Given the description of an element on the screen output the (x, y) to click on. 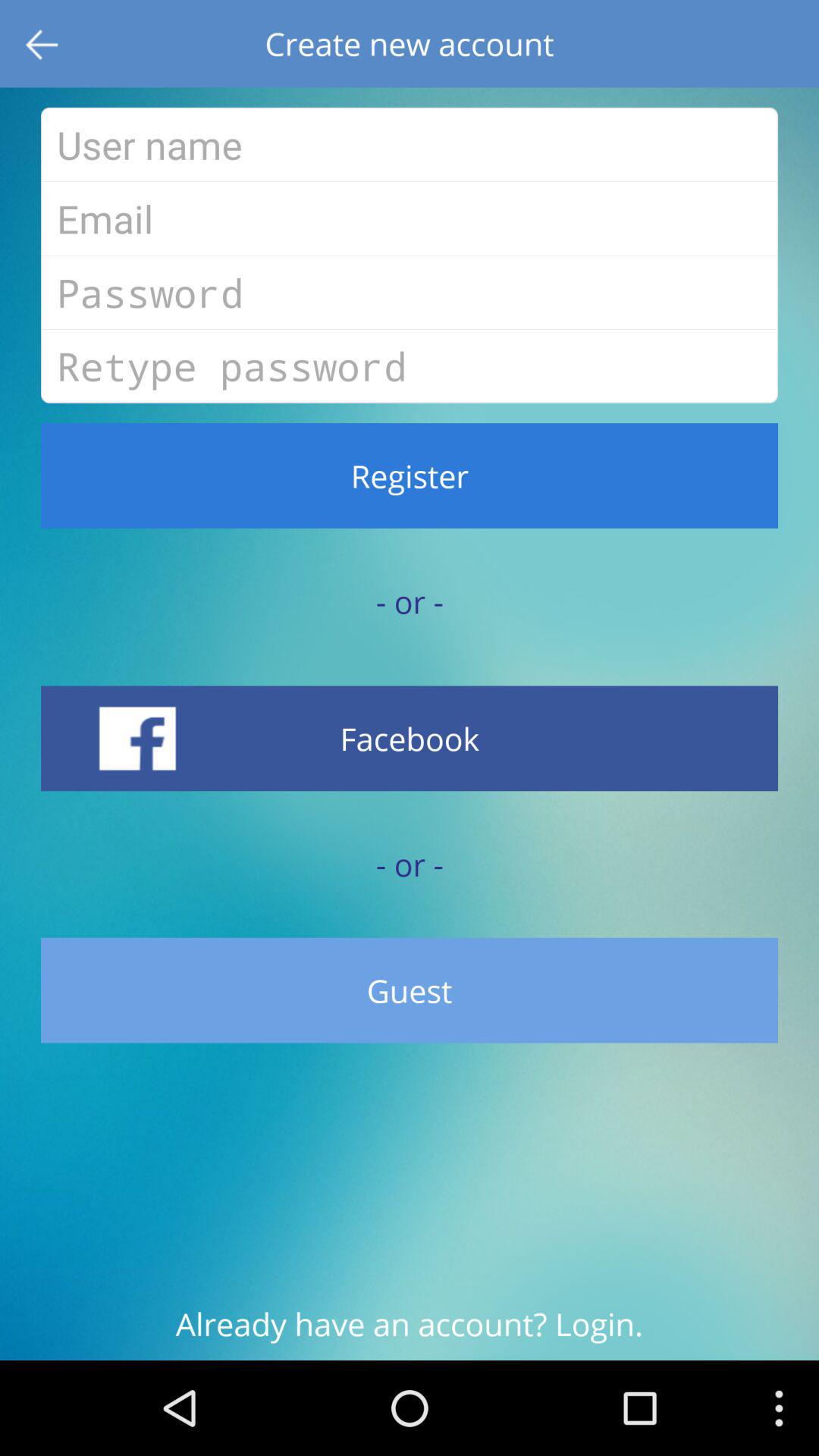
turn on item to the left of create new account item (43, 43)
